Given the description of an element on the screen output the (x, y) to click on. 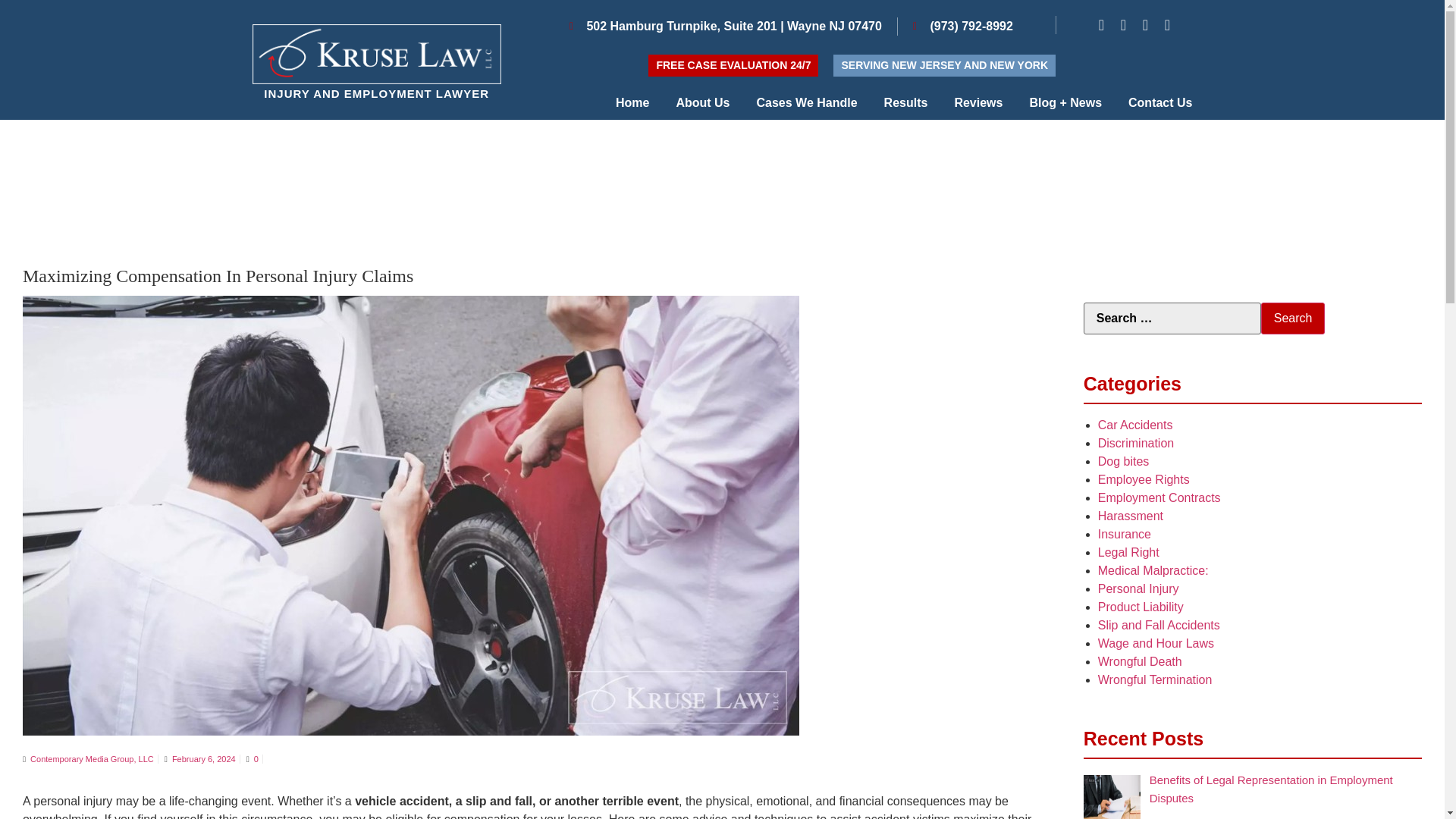
Contemporary Media Group, LLC (92, 758)
Search (1292, 318)
Results (905, 102)
Cases We Handle (807, 102)
Home (632, 102)
About Us (702, 102)
Search (1292, 318)
Search (1292, 318)
February 6, 2024 (203, 758)
Contact Us (1160, 102)
